Given the description of an element on the screen output the (x, y) to click on. 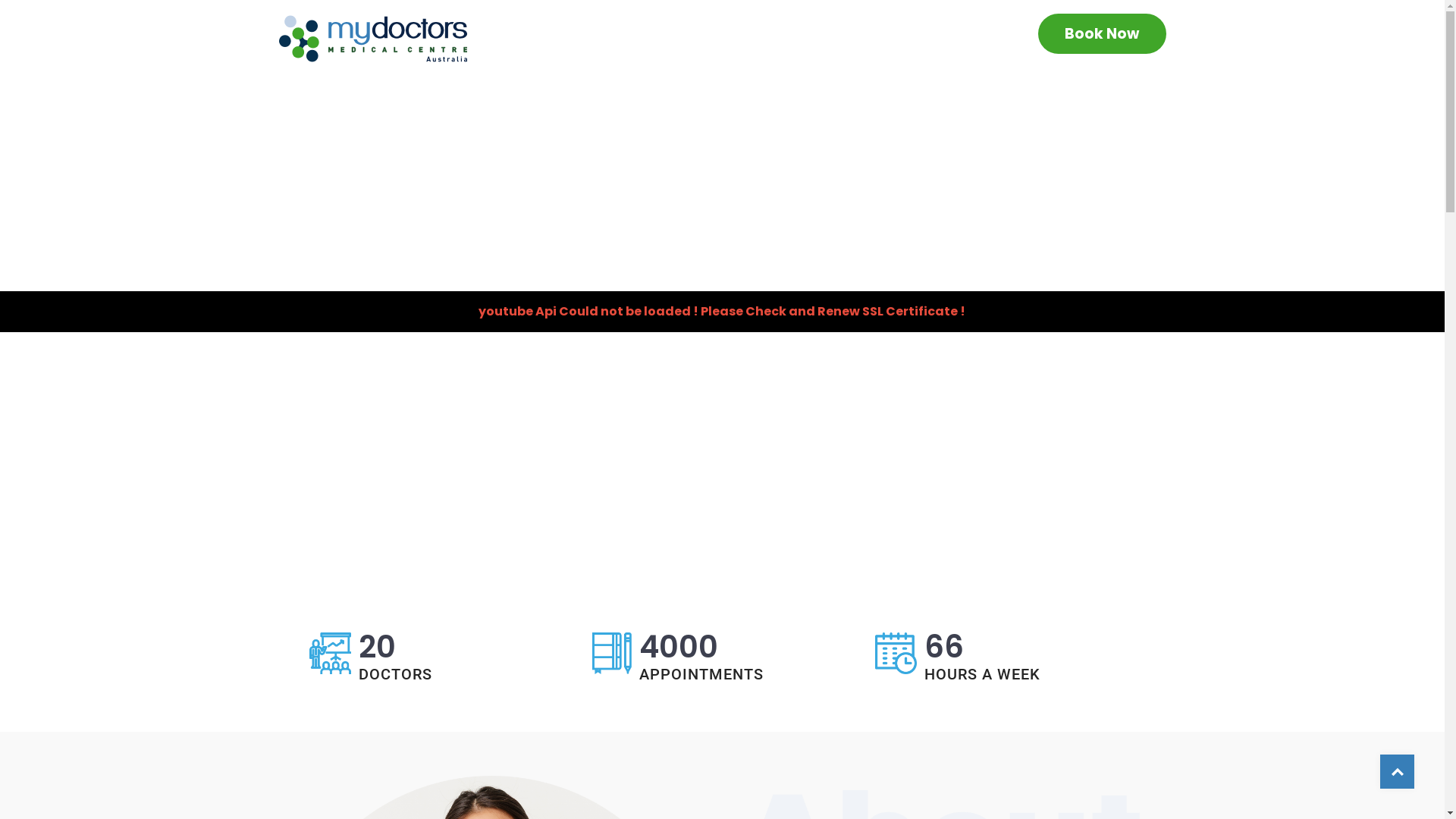
Our Clinics Element type: text (793, 36)
Search Element type: text (102, 18)
Log In Element type: text (371, 274)
Book Now Element type: text (1102, 33)
Home Element type: text (719, 35)
About Us Element type: text (960, 35)
Register Element type: text (386, 647)
Services Element type: text (882, 36)
Log in Element type: text (456, 327)
